Given the description of an element on the screen output the (x, y) to click on. 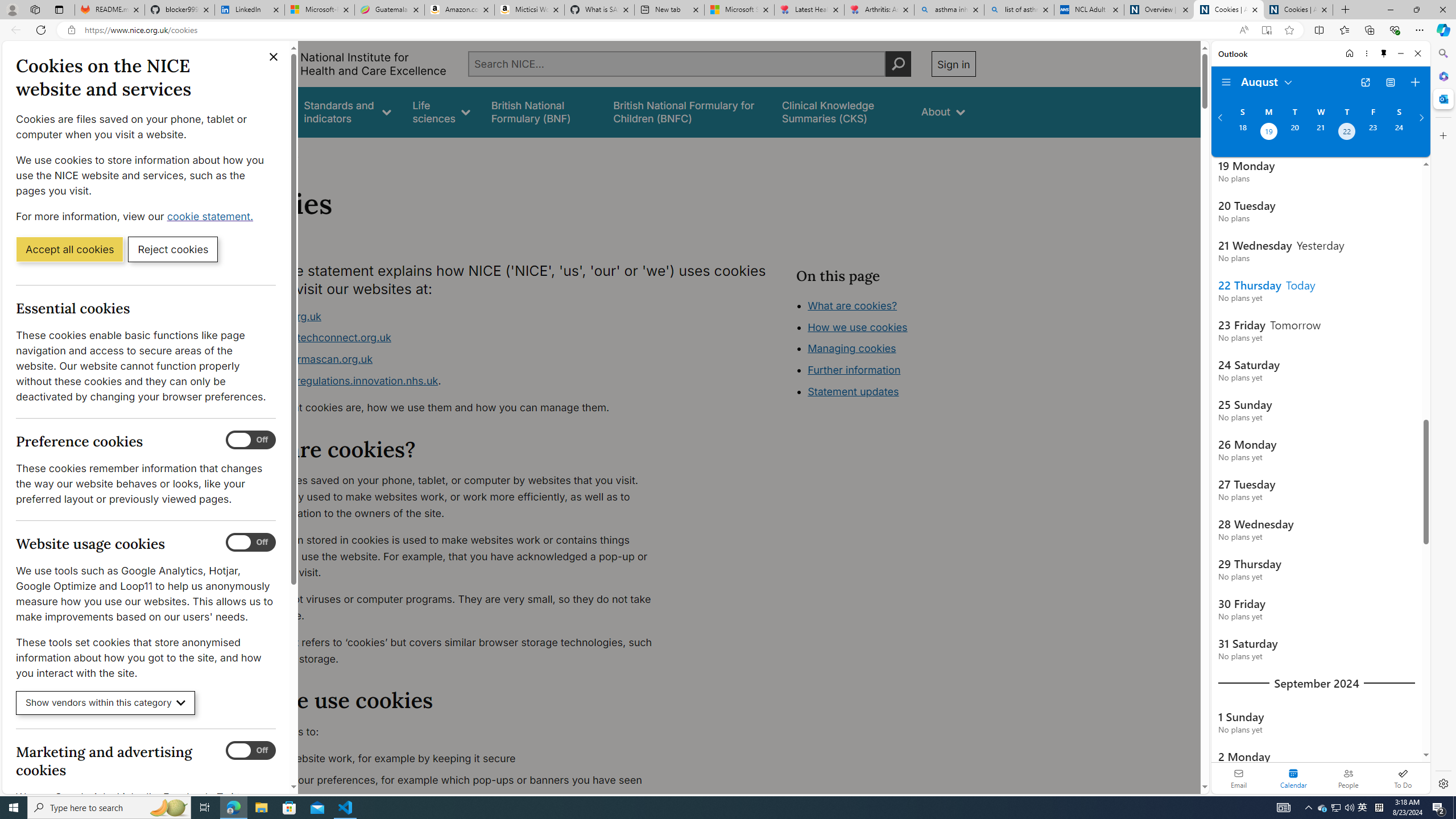
Microsoft-Report a Concern to Bing (319, 9)
Marketing and advertising cookies (250, 750)
Perform search (898, 63)
Life sciences (440, 111)
Show vendors within this category (105, 703)
